Given the description of an element on the screen output the (x, y) to click on. 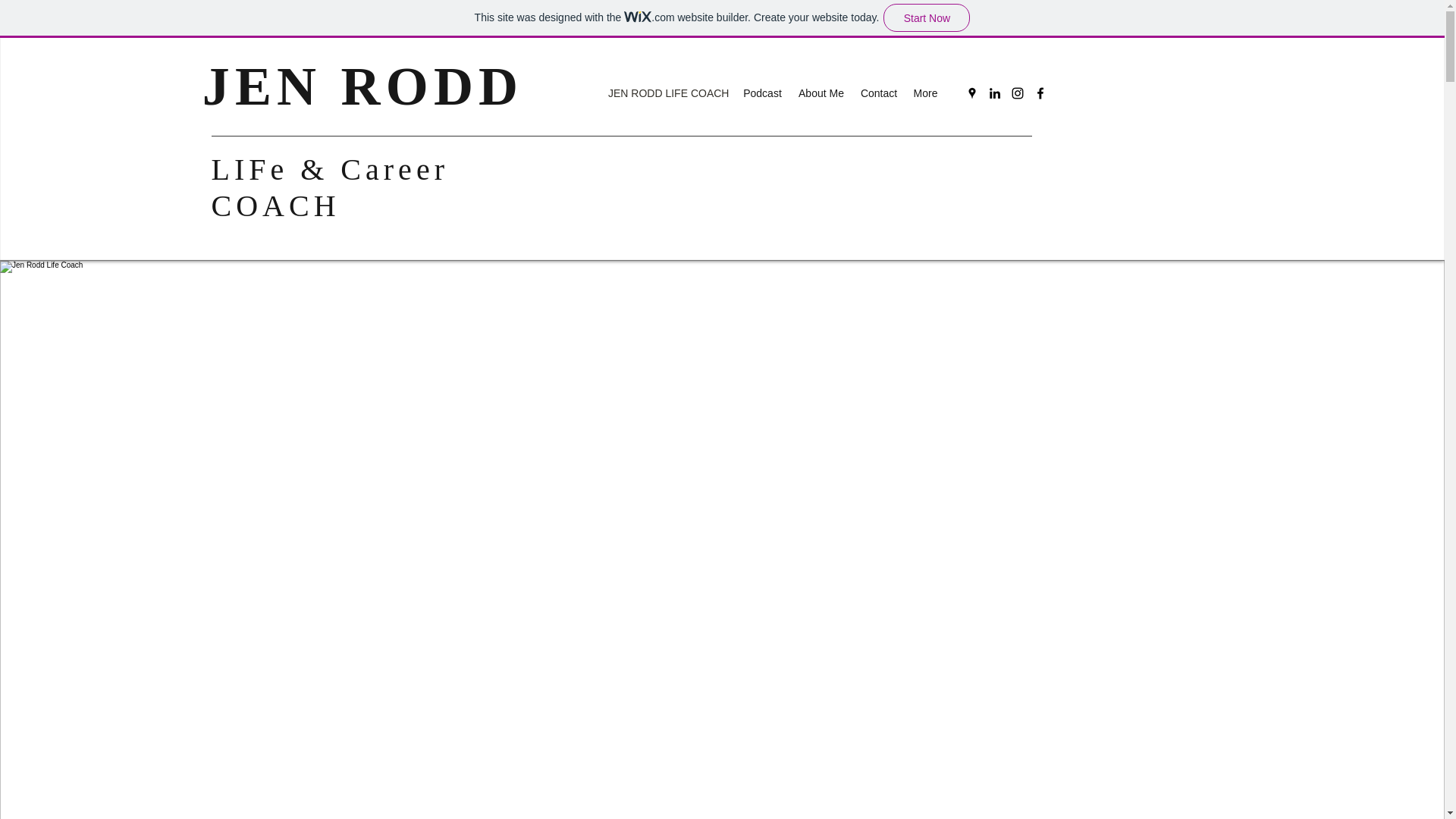
JEN RODD LIFE COACH (667, 92)
About Me (820, 92)
Contact (878, 92)
Podcast (762, 92)
